Given the description of an element on the screen output the (x, y) to click on. 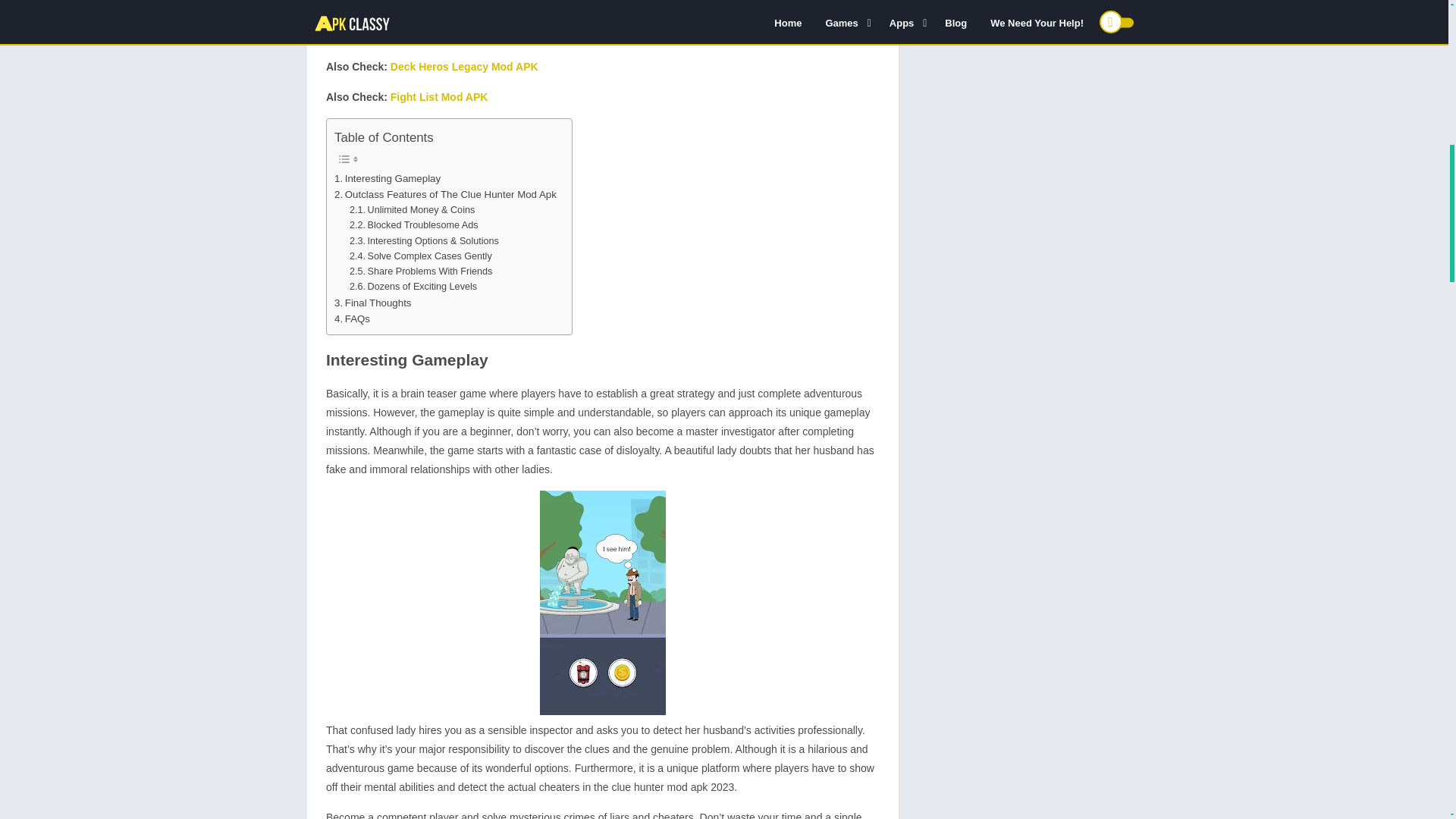
Outclass Features of The Clue Hunter Mod Apk (445, 194)
Blocked Troublesome Ads (414, 224)
Interesting Gameplay (387, 178)
